Given the description of an element on the screen output the (x, y) to click on. 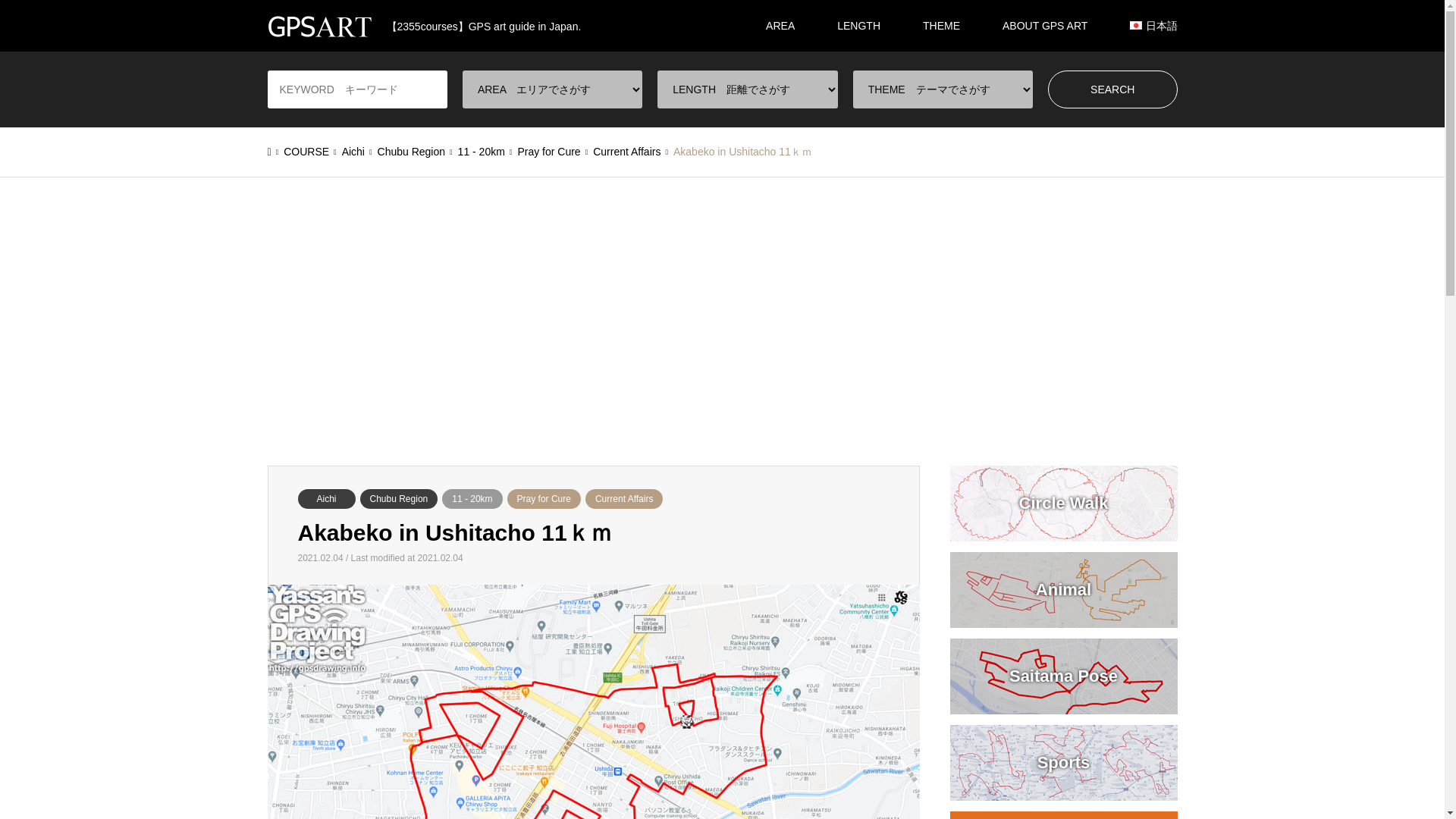
Chubu Region (398, 498)
GPS Art .info (318, 26)
SEARCH (1112, 89)
AREA (779, 25)
Pray for Cure (543, 498)
GPS Art .info (423, 25)
Current Affairs (623, 498)
11 - 20km (472, 498)
Aichi (326, 498)
